Given the description of an element on the screen output the (x, y) to click on. 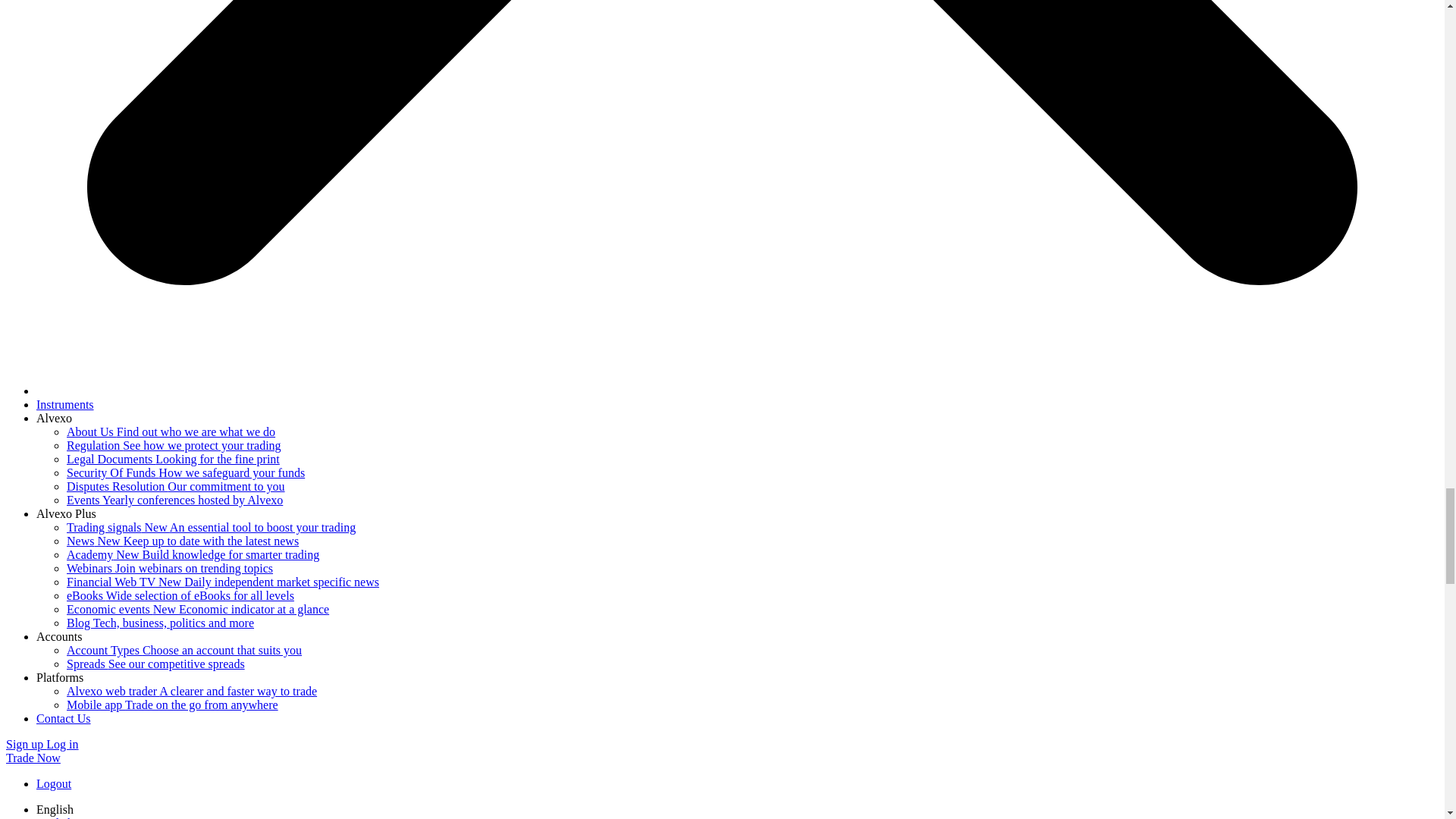
Contact Us (63, 717)
Security Of Funds How we safeguard your funds (185, 472)
Spreads See our competitive spreads (155, 663)
Events Yearly conferences hosted by Alvexo (174, 499)
Platforms (59, 676)
English (55, 817)
Logout (53, 783)
eBooks Wide selection of eBooks for all levels (180, 594)
Academy New Build knowledge for smarter trading (192, 554)
Accounts (58, 635)
Regulation See how we protect your trading (173, 445)
Log in (62, 744)
Alvexo (53, 418)
English (55, 809)
Financial Web TV New Daily independent market specific news (222, 581)
